Given the description of an element on the screen output the (x, y) to click on. 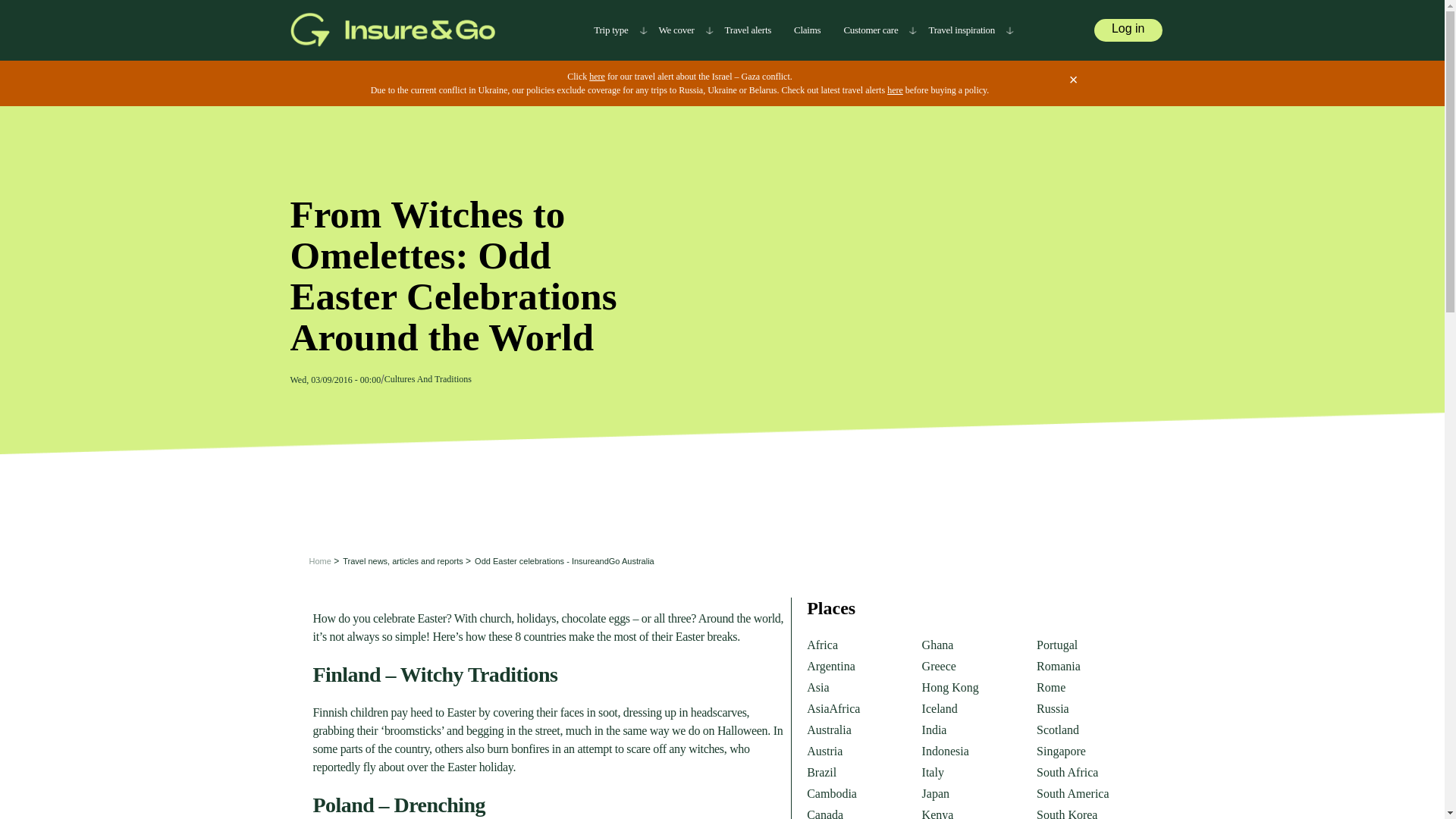
here (597, 76)
here (894, 90)
Africa (822, 644)
Travel alerts (748, 30)
Travel news, articles and reports (401, 560)
Log in (1128, 28)
Home (317, 560)
Odd Easter celebrations - InsureandGo Australia (561, 560)
